Given the description of an element on the screen output the (x, y) to click on. 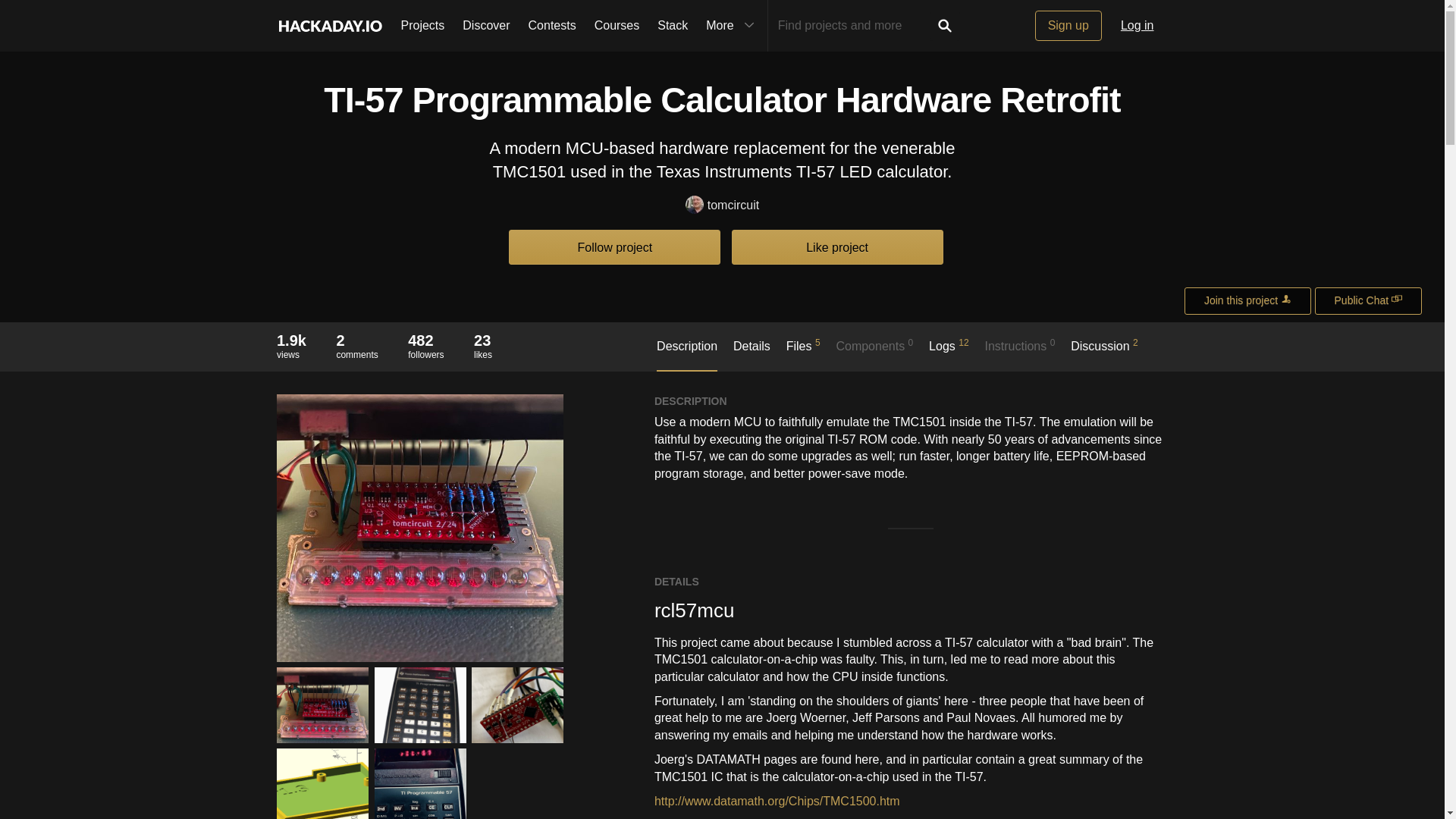
Discussion 2 (1104, 353)
Projects (421, 25)
Discover (485, 25)
More (732, 25)
Details (751, 354)
Search (944, 25)
Hackaday.io (425, 345)
Description (329, 25)
Join this project (686, 354)
